Given the description of an element on the screen output the (x, y) to click on. 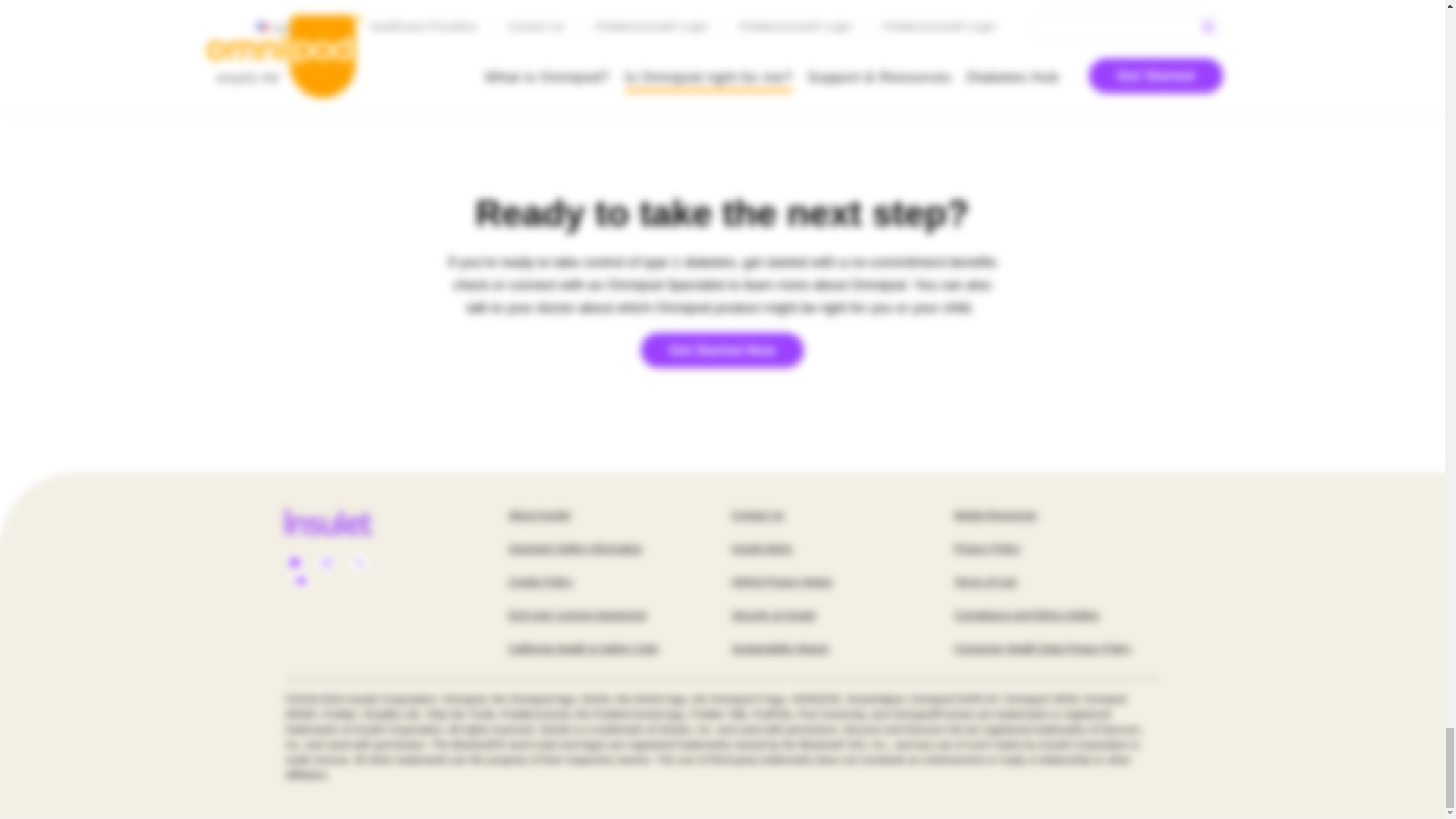
Youtube (299, 581)
Twitter (359, 563)
Click to visit Insulet.com (345, 521)
Instagram (326, 563)
Facebook (293, 563)
